Given the description of an element on the screen output the (x, y) to click on. 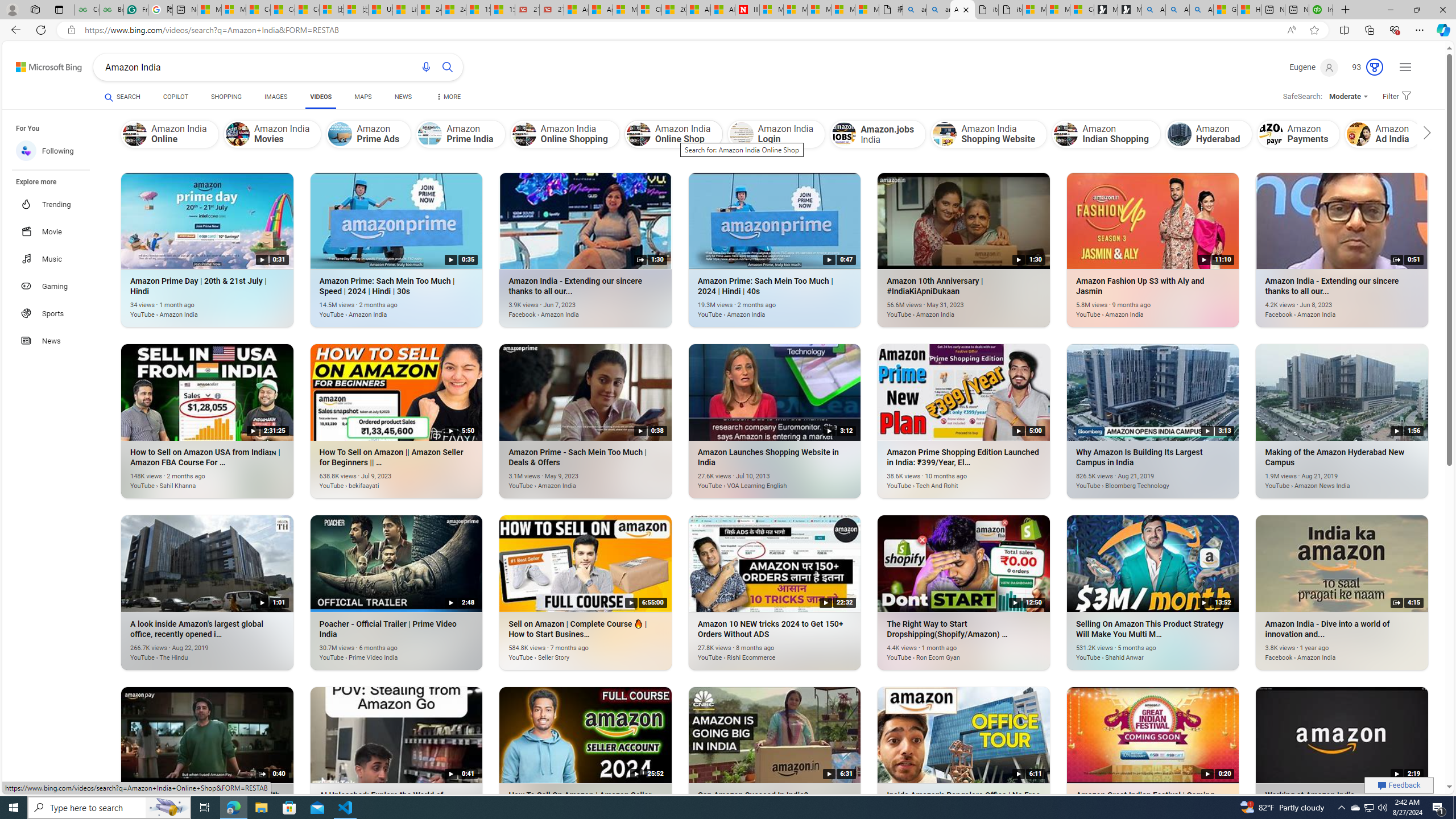
amazon - Search Videos (938, 9)
Amazon India Online Shop (638, 133)
Amazon.jobs India (843, 133)
Eugene (1314, 67)
Illness news & latest pictures from Newsweek.com (747, 9)
15 Ways Modern Life Contradicts the Teachings of Jesus (502, 9)
